Given the description of an element on the screen output the (x, y) to click on. 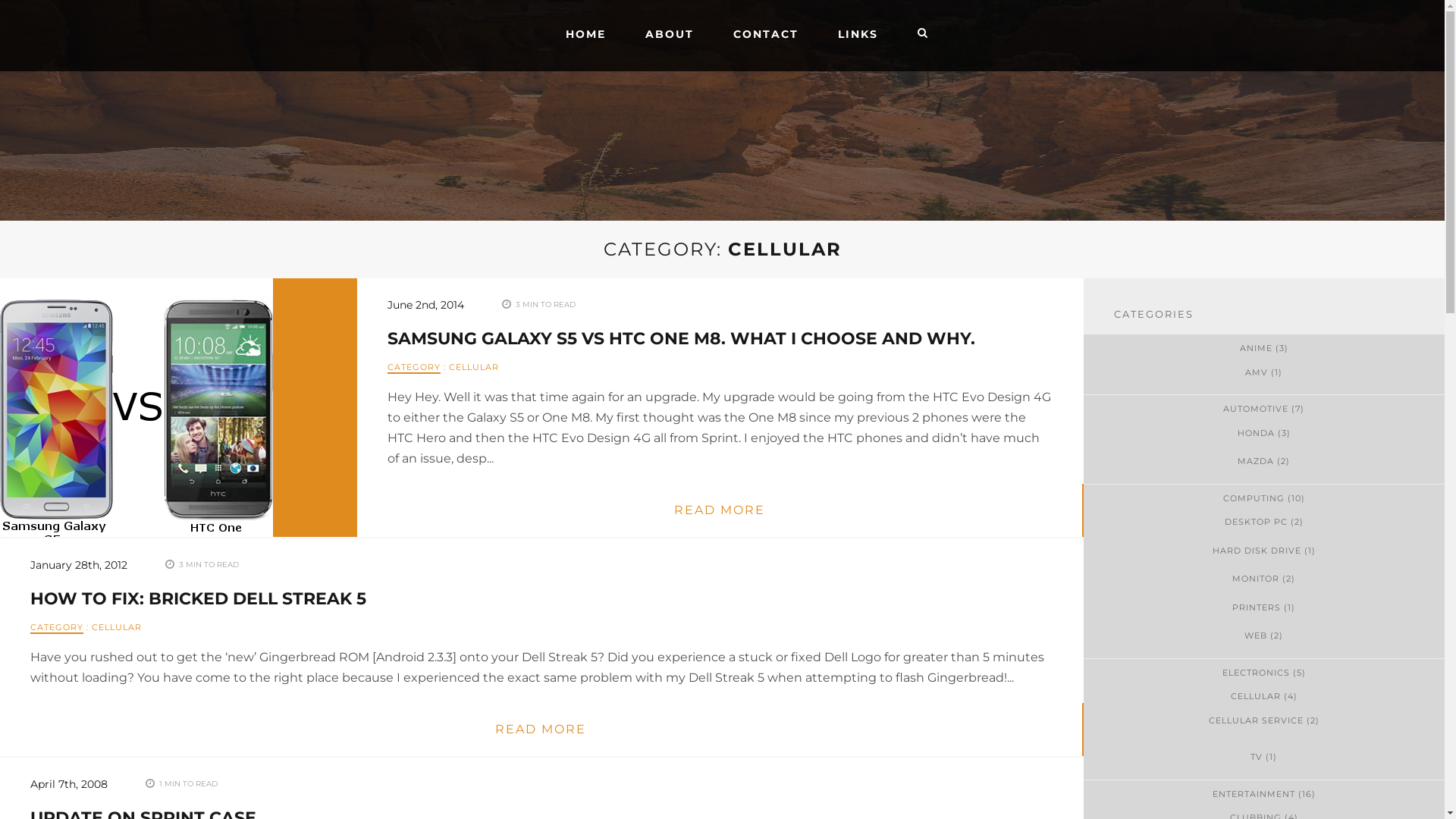
ANIME Element type: text (1255, 347)
READ MORE Element type: text (540, 729)
READ MORE Element type: text (718, 509)
HARD DISK DRIVE Element type: text (1256, 550)
HONDA Element type: text (1255, 432)
HOW TO FIX: BRICKED DELL STREAK 5 Element type: text (198, 598)
PRINTERS Element type: text (1256, 607)
ENTERTAINMENT Element type: text (1253, 793)
ELECTRONICS Element type: text (1255, 672)
DESKTOP PC Element type: text (1255, 521)
SAMSUNG GALAXY S5 VS HTC ONE M8. WHAT I CHOOSE AND WHY. Element type: text (681, 338)
TV Element type: text (1256, 756)
COMPUTING Element type: text (1253, 497)
MAZDA Element type: text (1255, 460)
CELLULAR Element type: text (473, 366)
CELLULAR SERVICE Element type: text (1255, 720)
WEB Element type: text (1255, 635)
LINKS Element type: text (857, 33)
HOME Element type: text (585, 33)
CONTACT Element type: text (765, 33)
CELLULAR Element type: text (116, 626)
AMV Element type: text (1256, 372)
ABOUT Element type: text (669, 33)
MONITOR Element type: text (1255, 578)
CELLULAR Element type: text (1255, 695)
AUTOMOTIVE Element type: text (1255, 408)
